Given the description of an element on the screen output the (x, y) to click on. 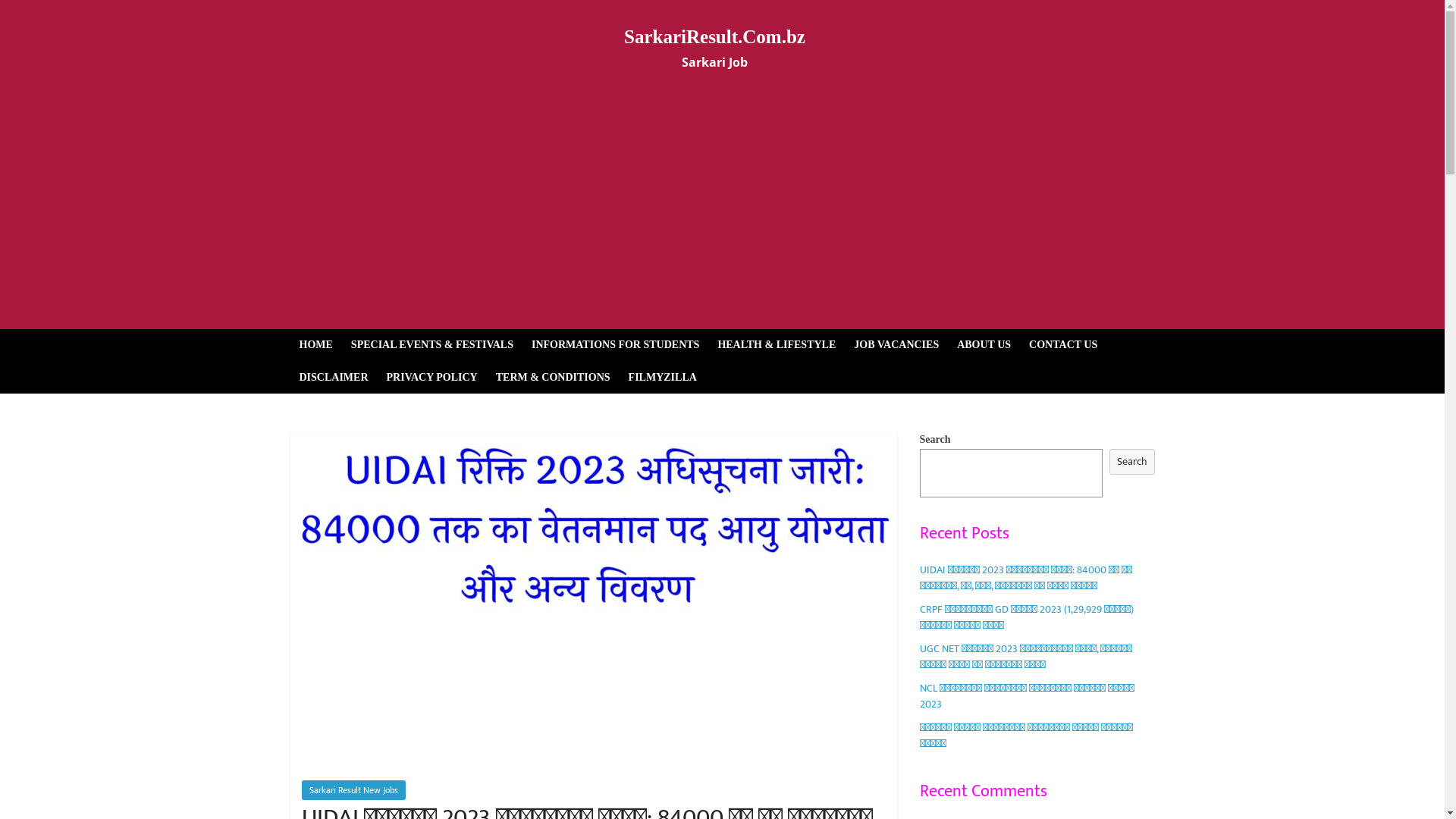
TERM & CONDITIONS Element type: text (552, 377)
HEALTH & LIFESTYLE Element type: text (776, 344)
FILMYZILLA Element type: text (662, 377)
ABOUT US Element type: text (983, 344)
HOME Element type: text (315, 344)
PRIVACY POLICY Element type: text (431, 377)
Advertisement Element type: hover (721, 215)
SarkariResult.Com.bz Element type: text (714, 36)
SPECIAL EVENTS & FESTIVALS Element type: text (432, 344)
JOB VACANCIES Element type: text (895, 344)
Search Element type: text (1131, 461)
Sarkari Result New Jobs Element type: text (353, 790)
DISCLAIMER Element type: text (332, 377)
INFORMATIONS FOR STUDENTS Element type: text (615, 344)
CONTACT US Element type: text (1062, 344)
